Given the description of an element on the screen output the (x, y) to click on. 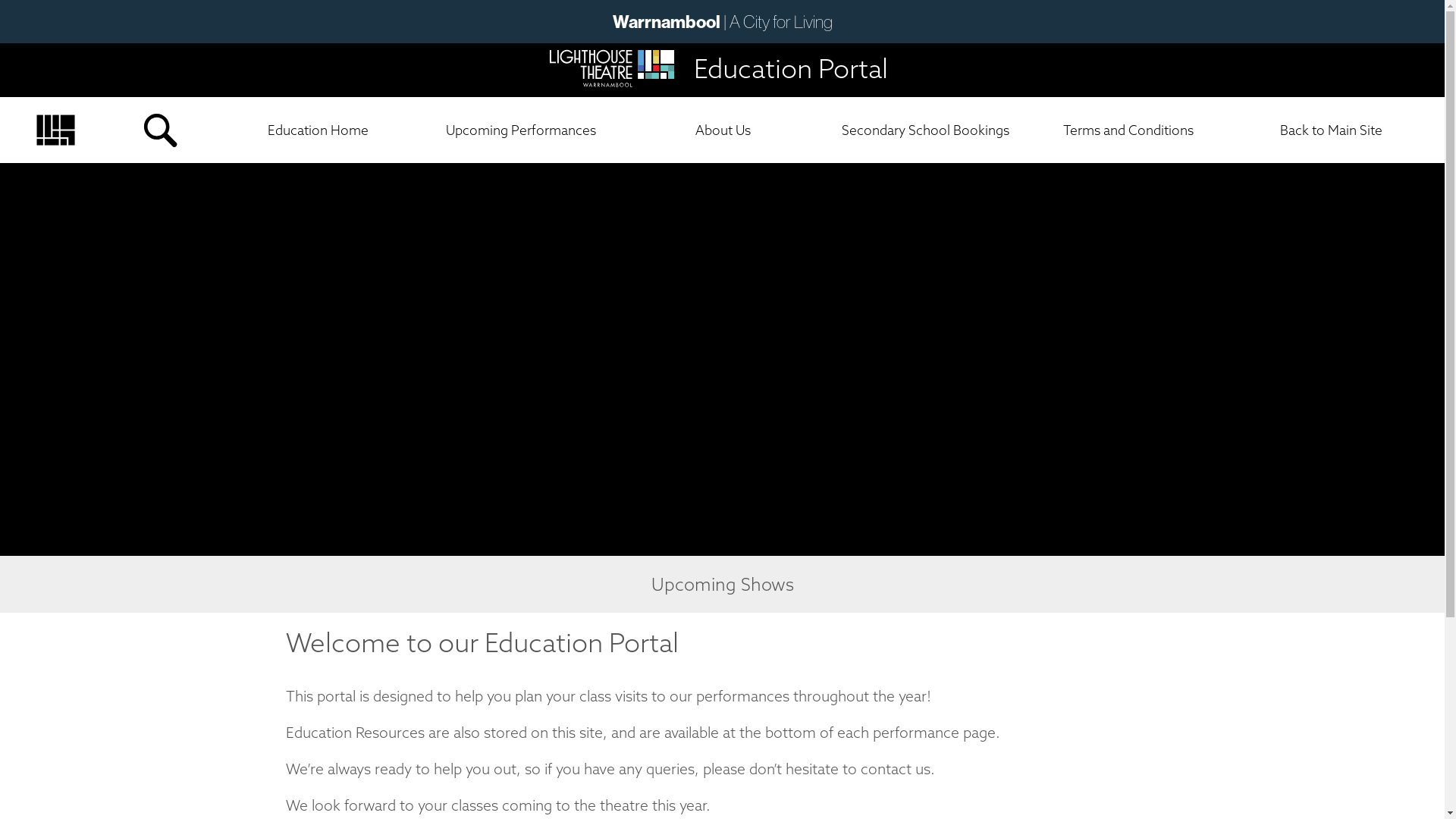
About Us Element type: text (722, 129)
Back to Main Site Element type: text (1331, 129)
Upcoming Performances Element type: text (520, 129)
Terms and Conditions Element type: text (1127, 129)
Education Home Element type: text (317, 129)
Secondary School Bookings Element type: text (925, 129)
Home Element type: text (55, 102)
